Given the description of an element on the screen output the (x, y) to click on. 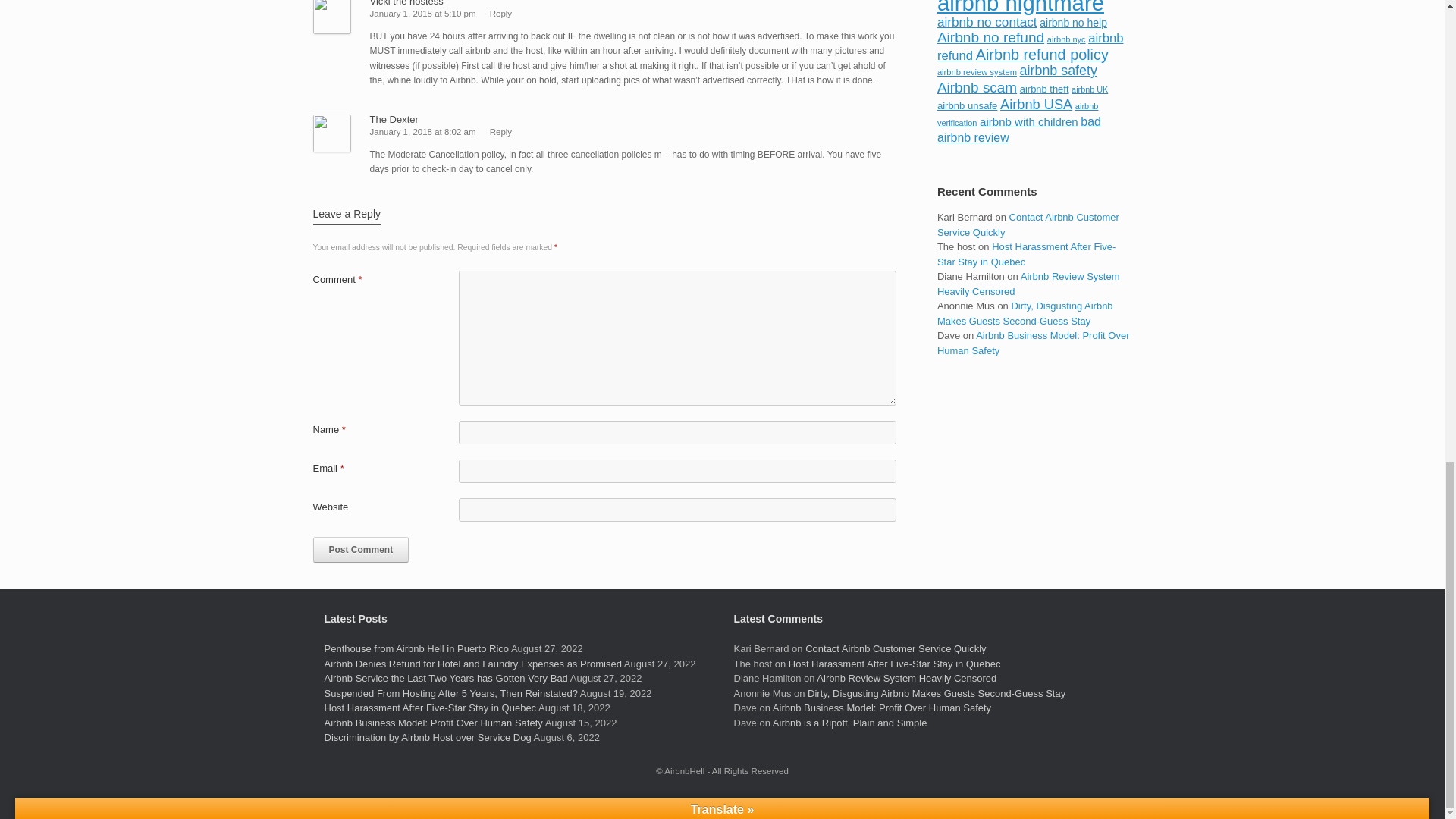
Post Comment (361, 549)
